Given the description of an element on the screen output the (x, y) to click on. 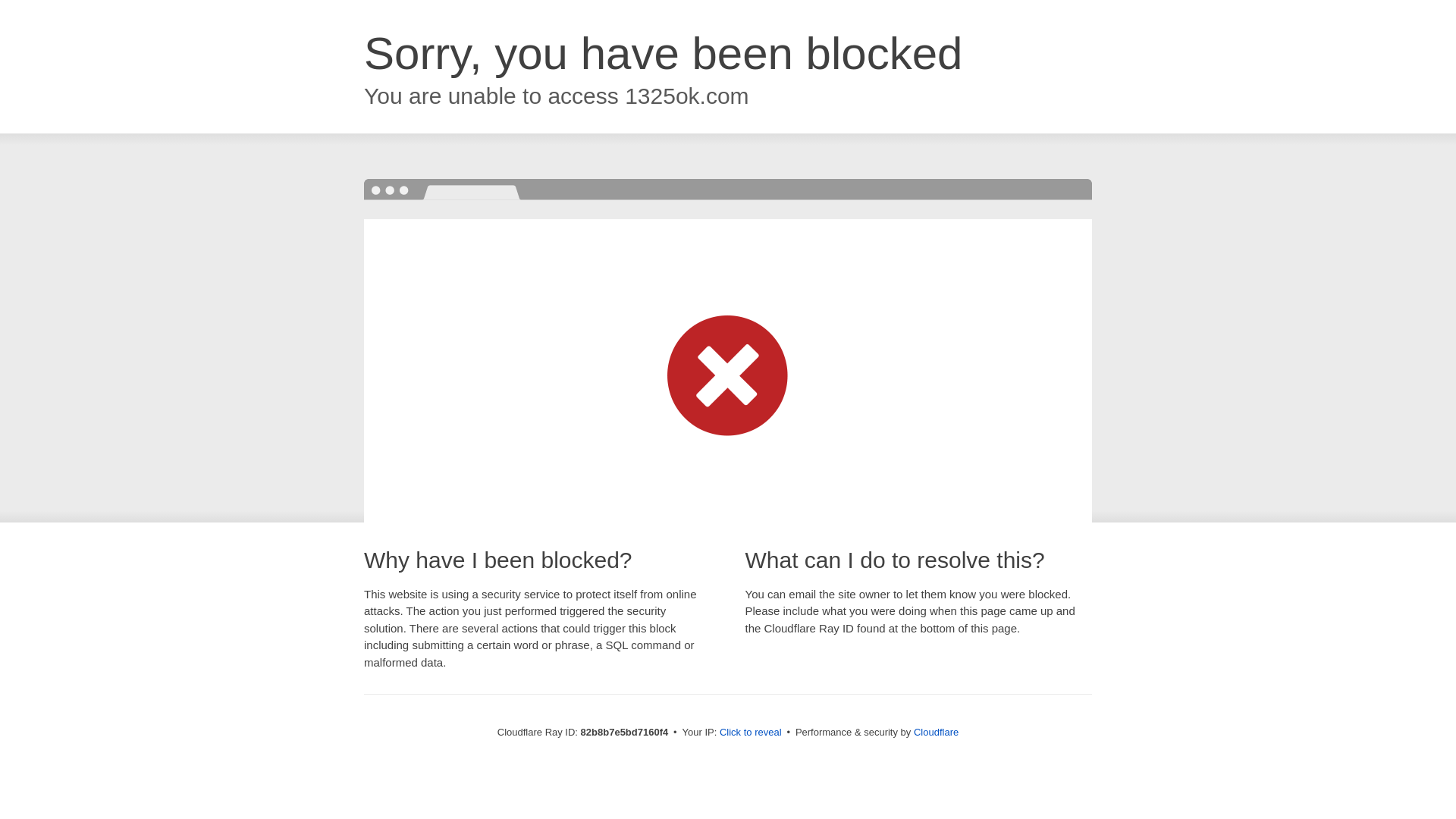
Cloudflare Element type: text (935, 731)
Click to reveal Element type: text (750, 732)
